Given the description of an element on the screen output the (x, y) to click on. 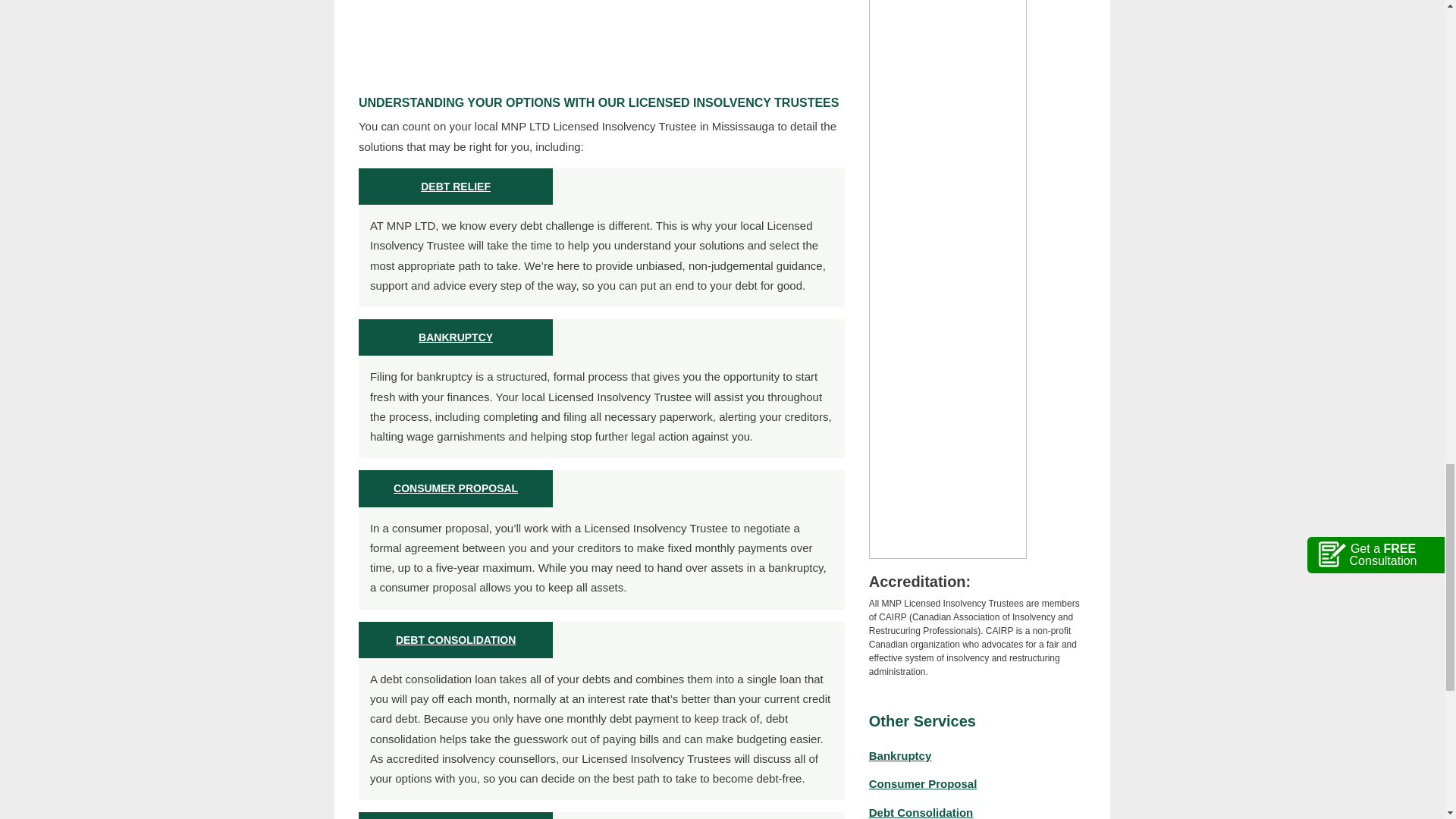
BANKRUPTCY (456, 337)
Consumer Proposal (922, 783)
DEBT RELIEF (455, 186)
CONSUMER PROPOSAL (455, 488)
DEBT CONSOLIDATION (455, 639)
Bankruptcy (900, 755)
Debt Consolidation (921, 812)
